Given the description of an element on the screen output the (x, y) to click on. 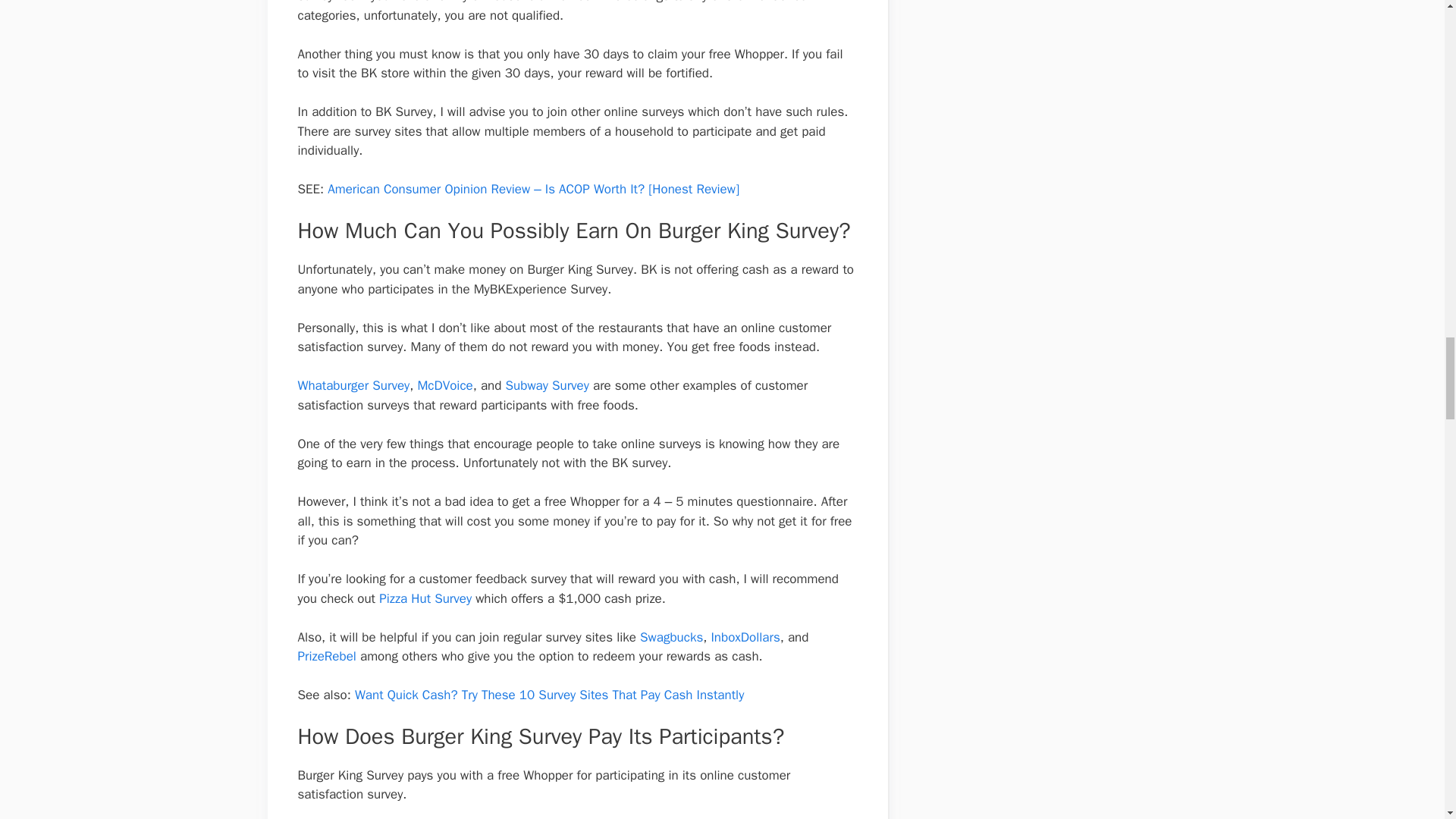
Subway Survey (547, 385)
McDVoice (443, 385)
Pizza Hut Survey (424, 598)
Whataburger Survey (353, 385)
InboxDollars (744, 637)
Swagbucks (671, 637)
